Given the description of an element on the screen output the (x, y) to click on. 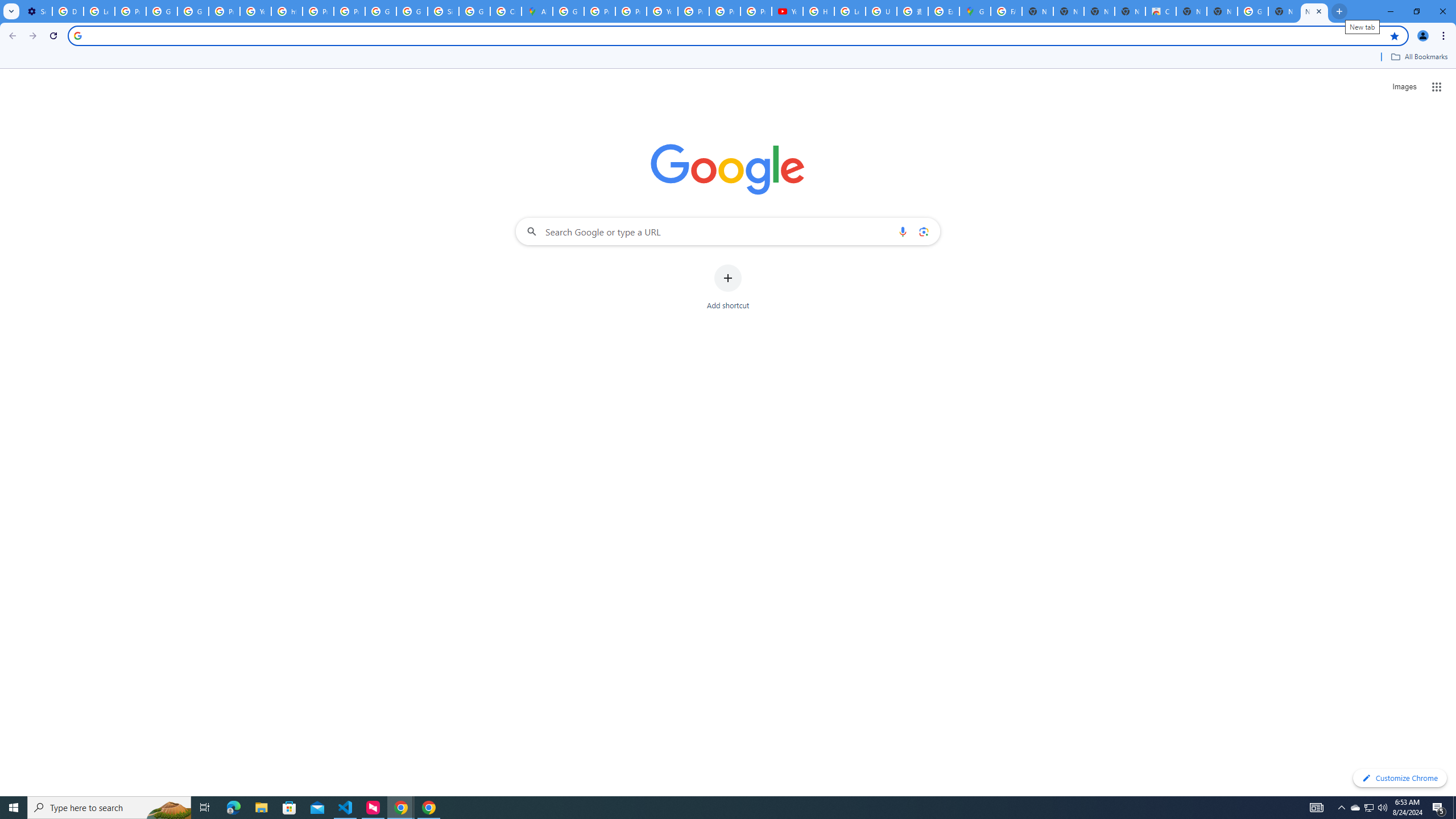
Privacy Checkup (756, 11)
